Given the description of an element on the screen output the (x, y) to click on. 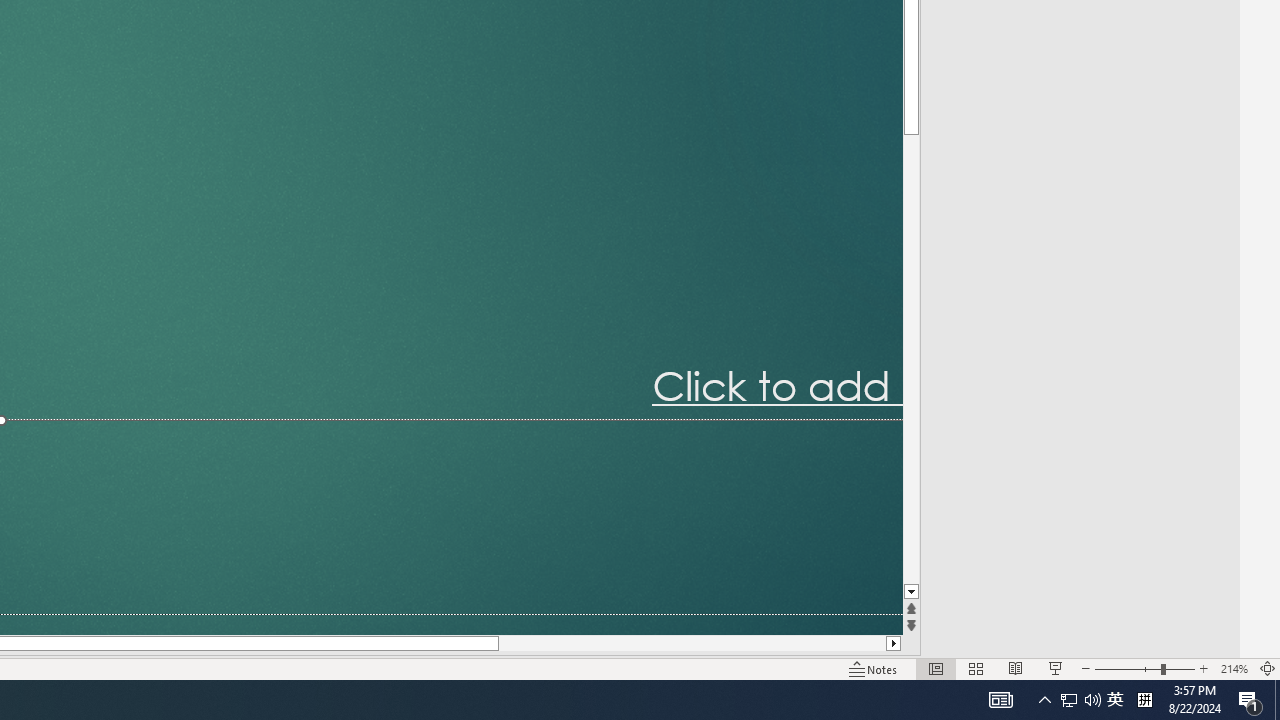
Zoom 214% (1234, 668)
